Given the description of an element on the screen output the (x, y) to click on. 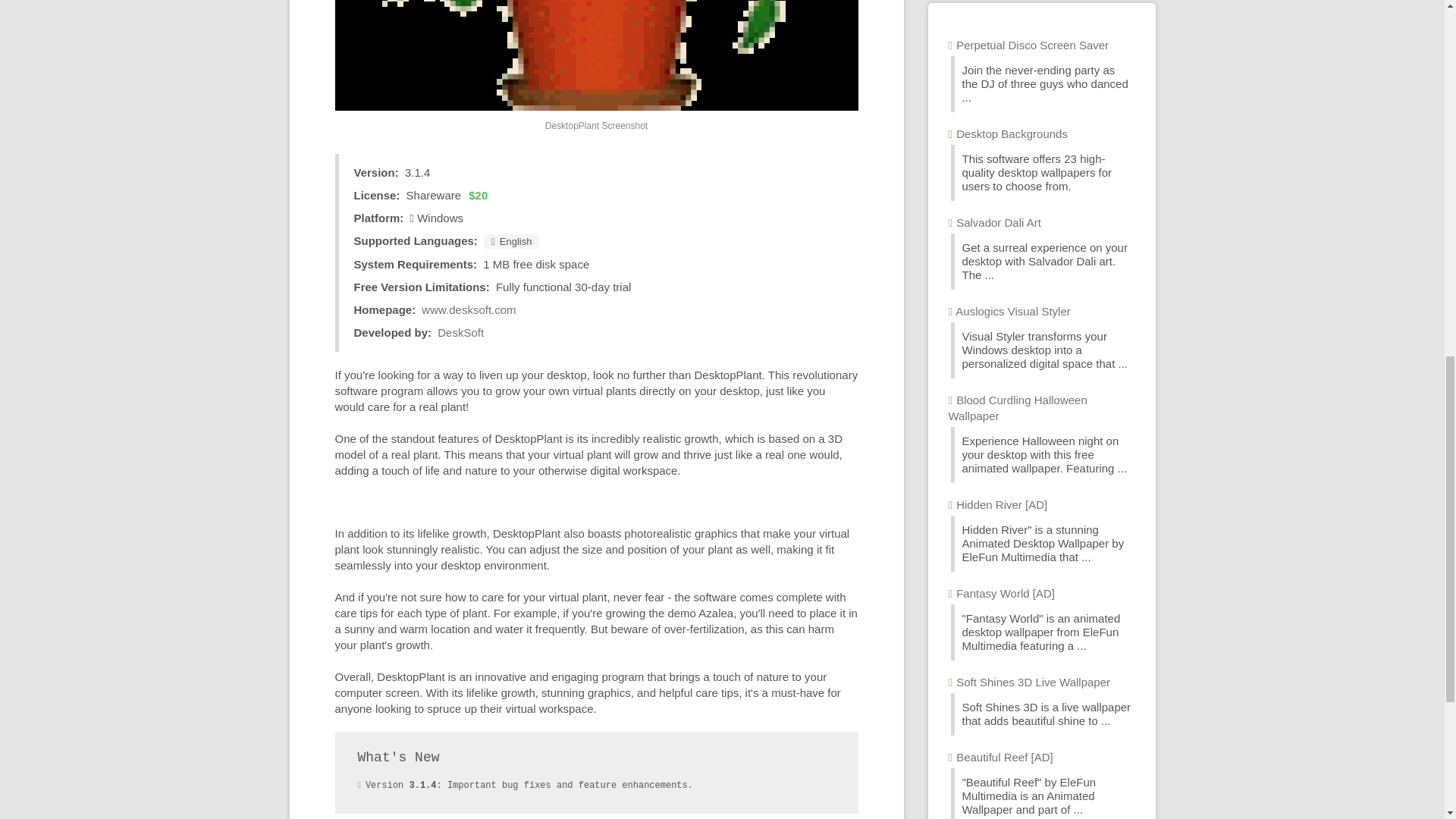
DesktopPlant (596, 55)
